Given the description of an element on the screen output the (x, y) to click on. 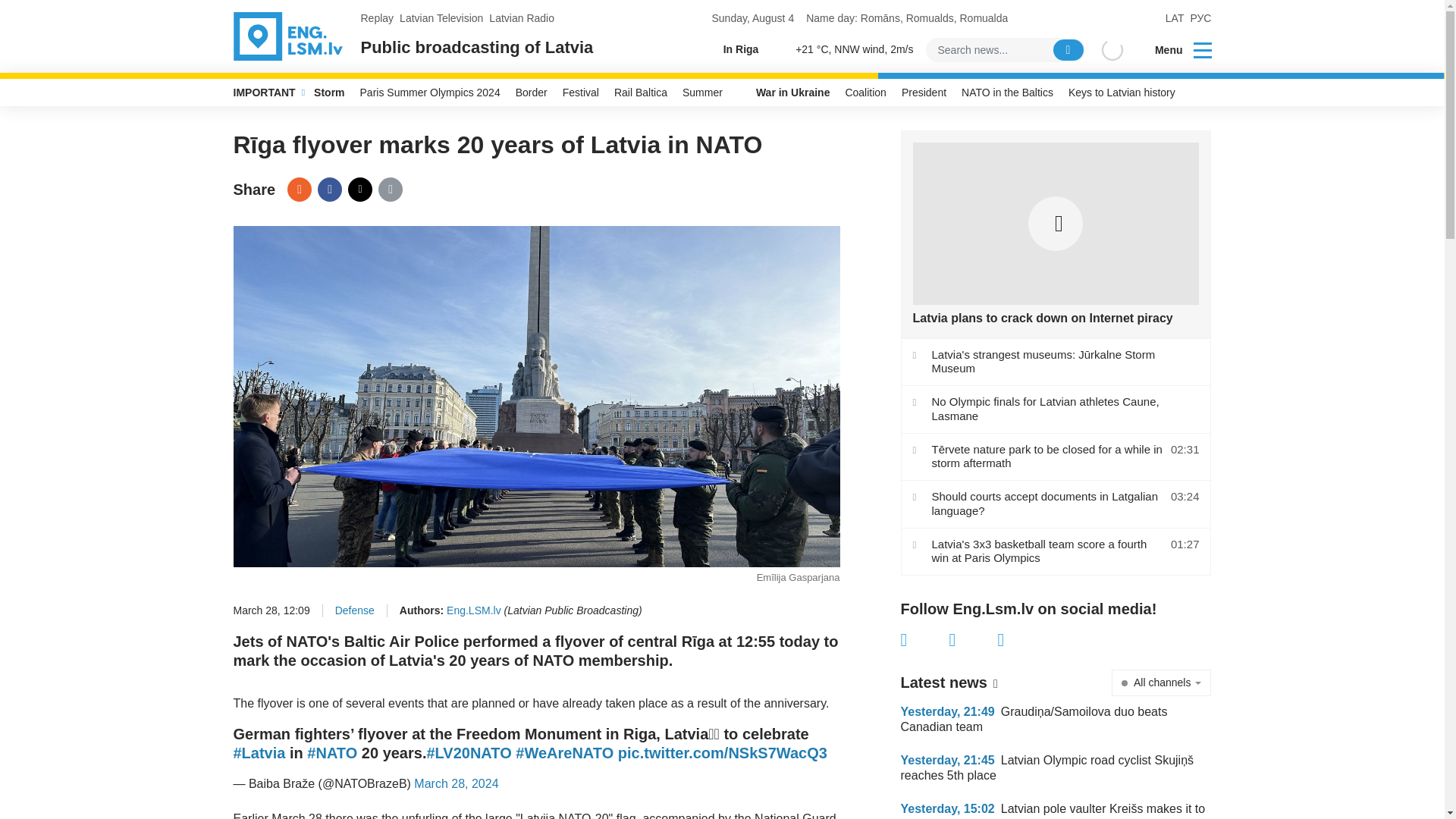
X (973, 639)
Keys to Latvian history (1121, 92)
Paris Summer Olympics 2024 (430, 92)
Facebook (329, 189)
Topics (1202, 49)
Menu (1173, 50)
Latvian Radio (521, 18)
Border (531, 92)
Summer (702, 92)
Facebook (925, 639)
NATO in the Baltics (1007, 92)
Replay (377, 18)
Linkedin (1021, 639)
Festival (580, 92)
Draugiem (298, 189)
